Given the description of an element on the screen output the (x, y) to click on. 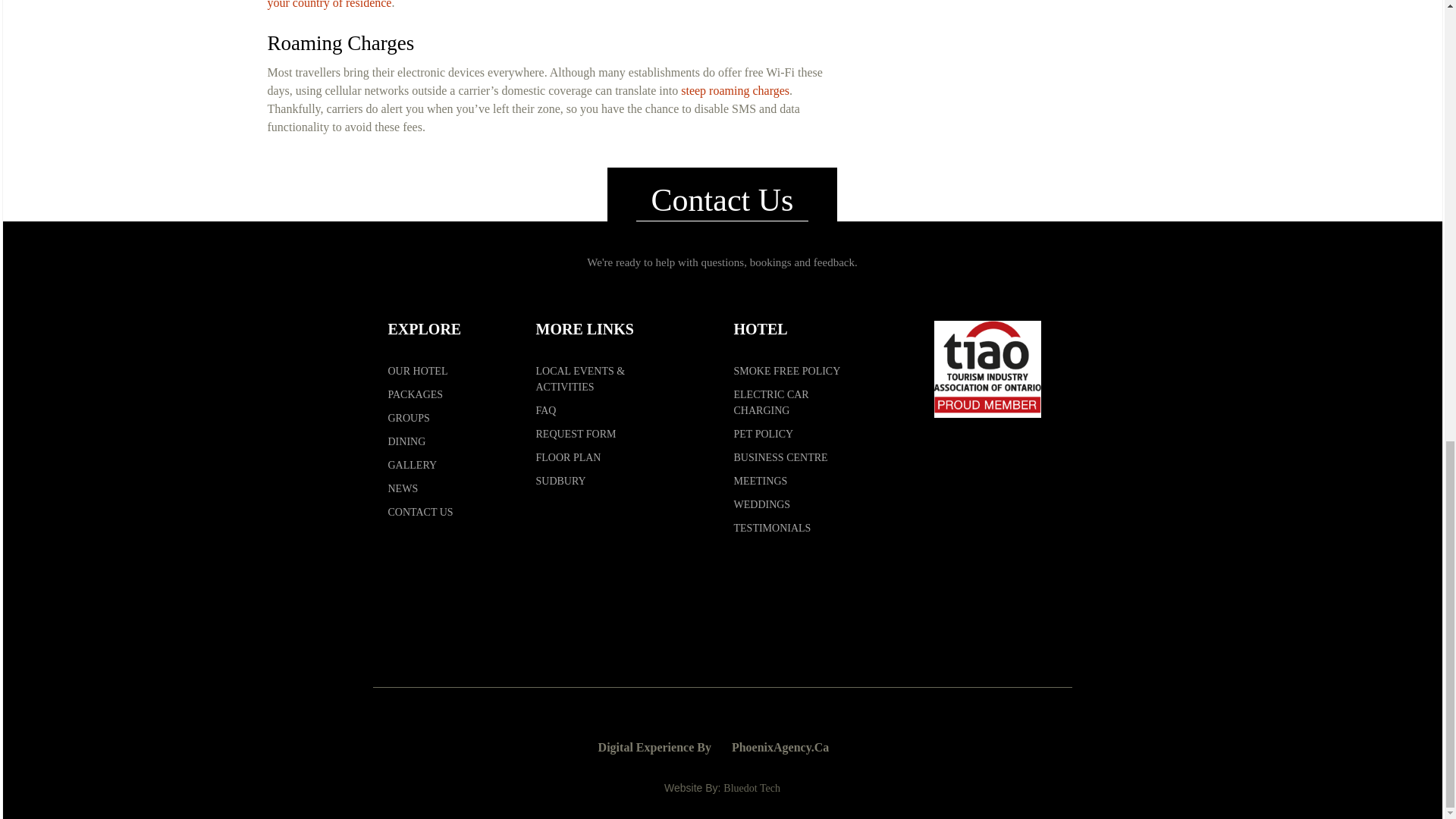
steep roaming charges (735, 90)
medical attention outside your country of residence (545, 4)
